Given the description of an element on the screen output the (x, y) to click on. 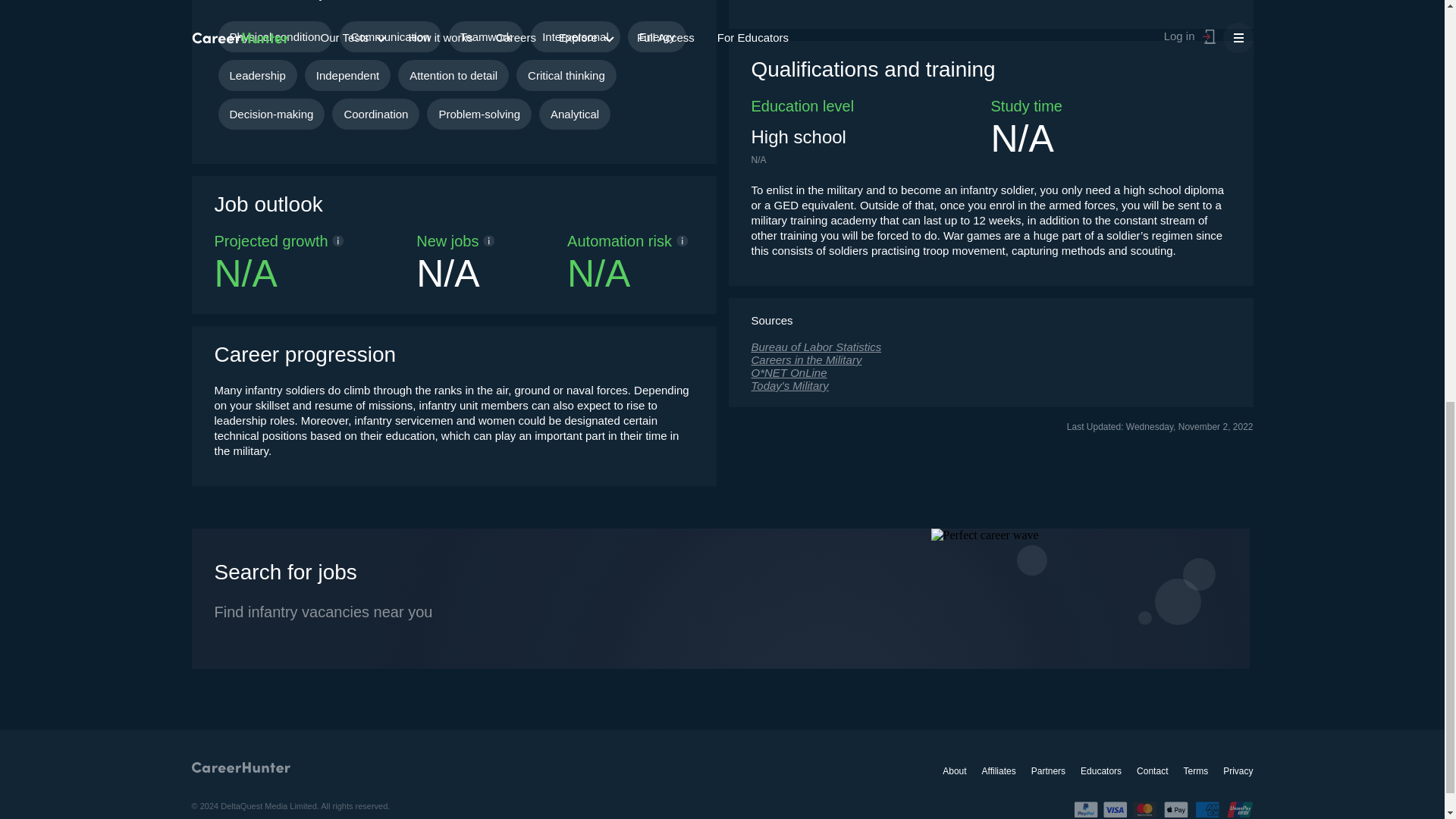
About (954, 770)
Careers in the Military (990, 359)
Contact (1152, 770)
Bureau of Labor Statistics (990, 346)
Terms (1195, 770)
Educators (1100, 770)
Partners (1047, 770)
Today's Military (990, 385)
Privacy (1237, 770)
Affiliates (998, 770)
